Given the description of an element on the screen output the (x, y) to click on. 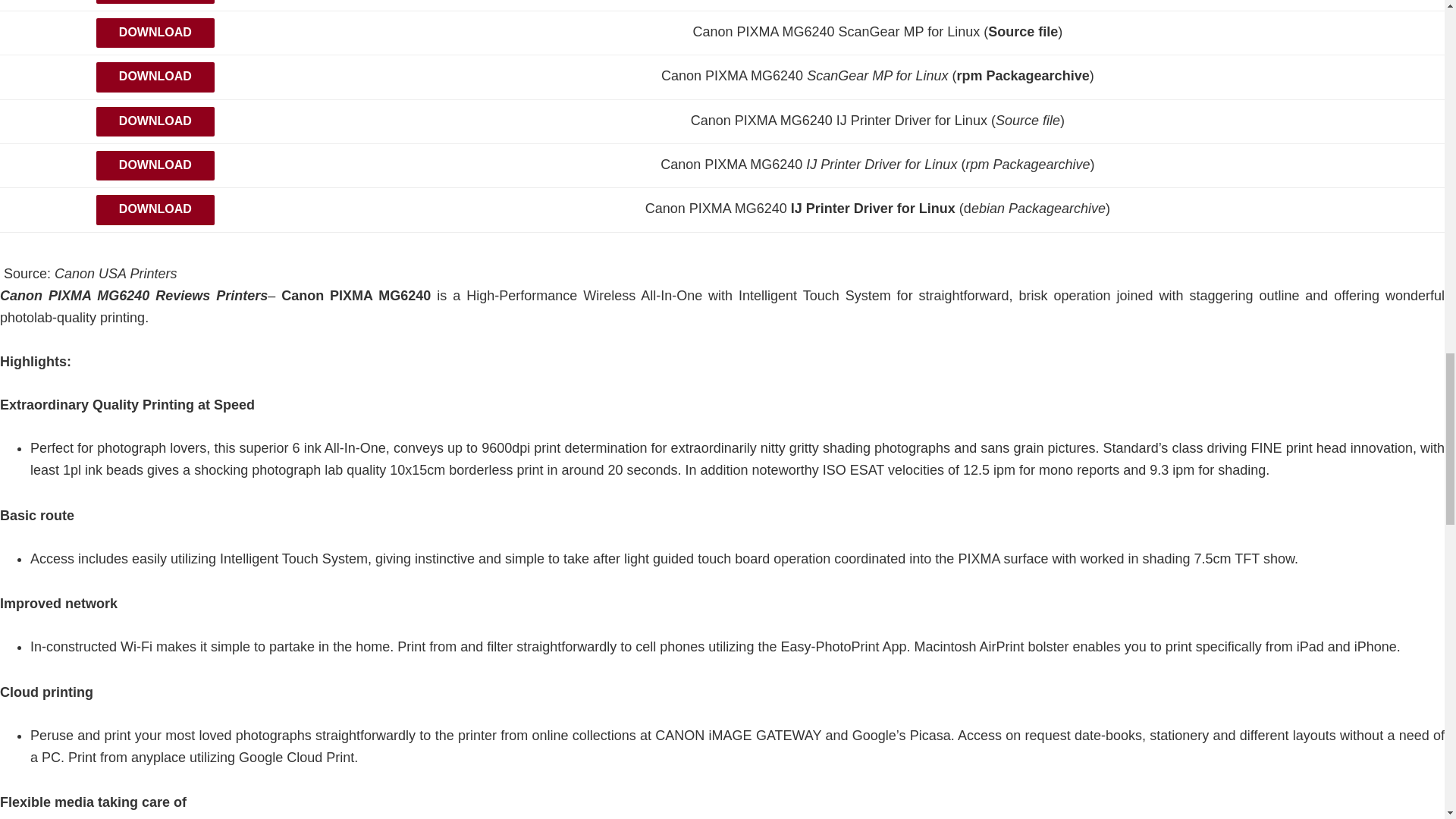
DOWNLOAD (155, 123)
DOWNLOAD (155, 32)
DOWNLOAD (155, 35)
DOWNLOAD (155, 165)
DOWNLOAD (155, 76)
DOWNLOAD (155, 167)
DOWNLOAD (155, 213)
DOWNLOAD (155, 1)
DOWNLOAD (155, 209)
DOWNLOAD (155, 80)
